Given the description of an element on the screen output the (x, y) to click on. 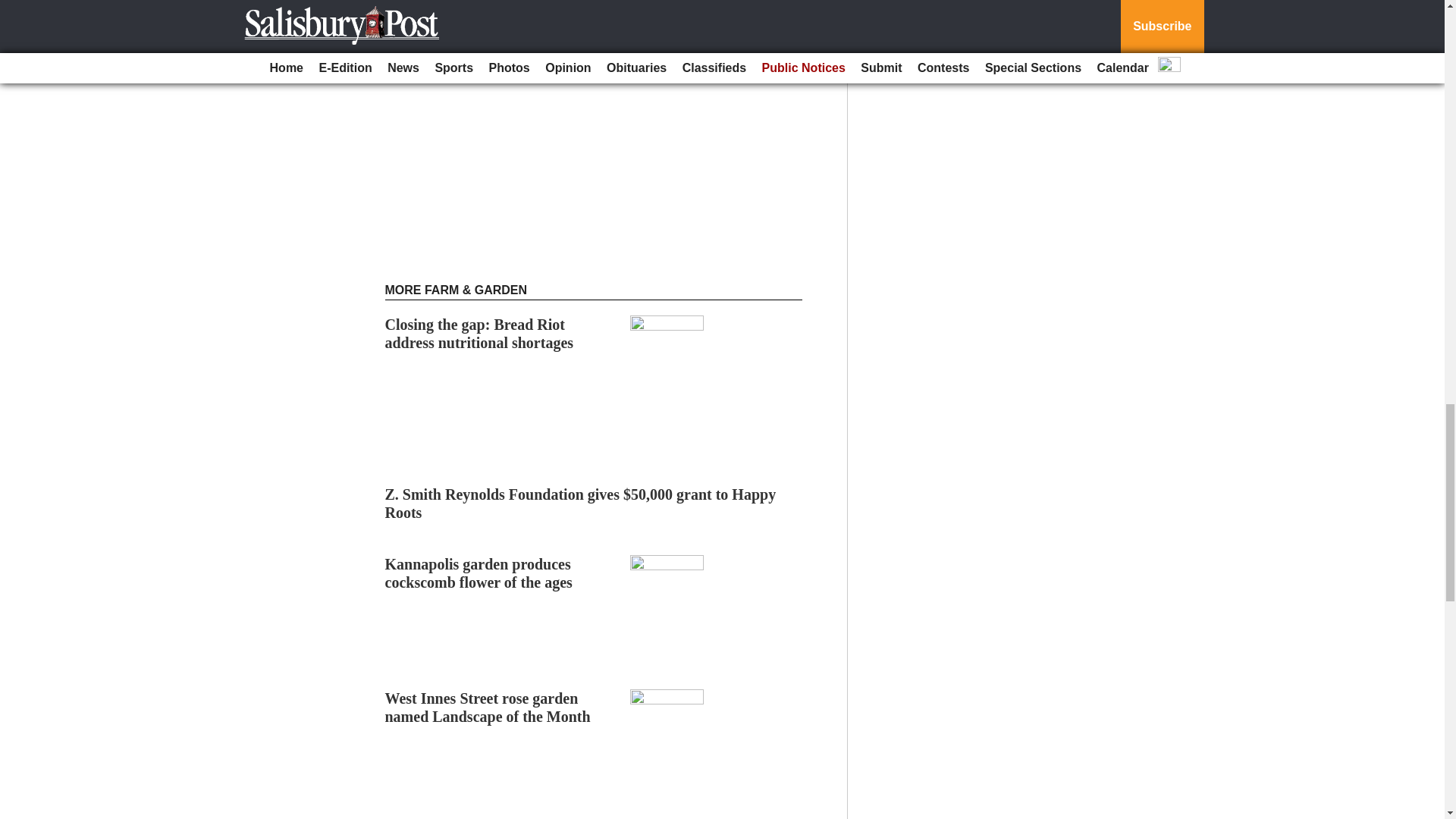
Closing the gap: Bread Riot address nutritional shortages (479, 333)
West Innes Street rose garden named Landscape of the Month (488, 707)
Kannapolis garden produces cockscomb flower of the ages (478, 573)
